Given the description of an element on the screen output the (x, y) to click on. 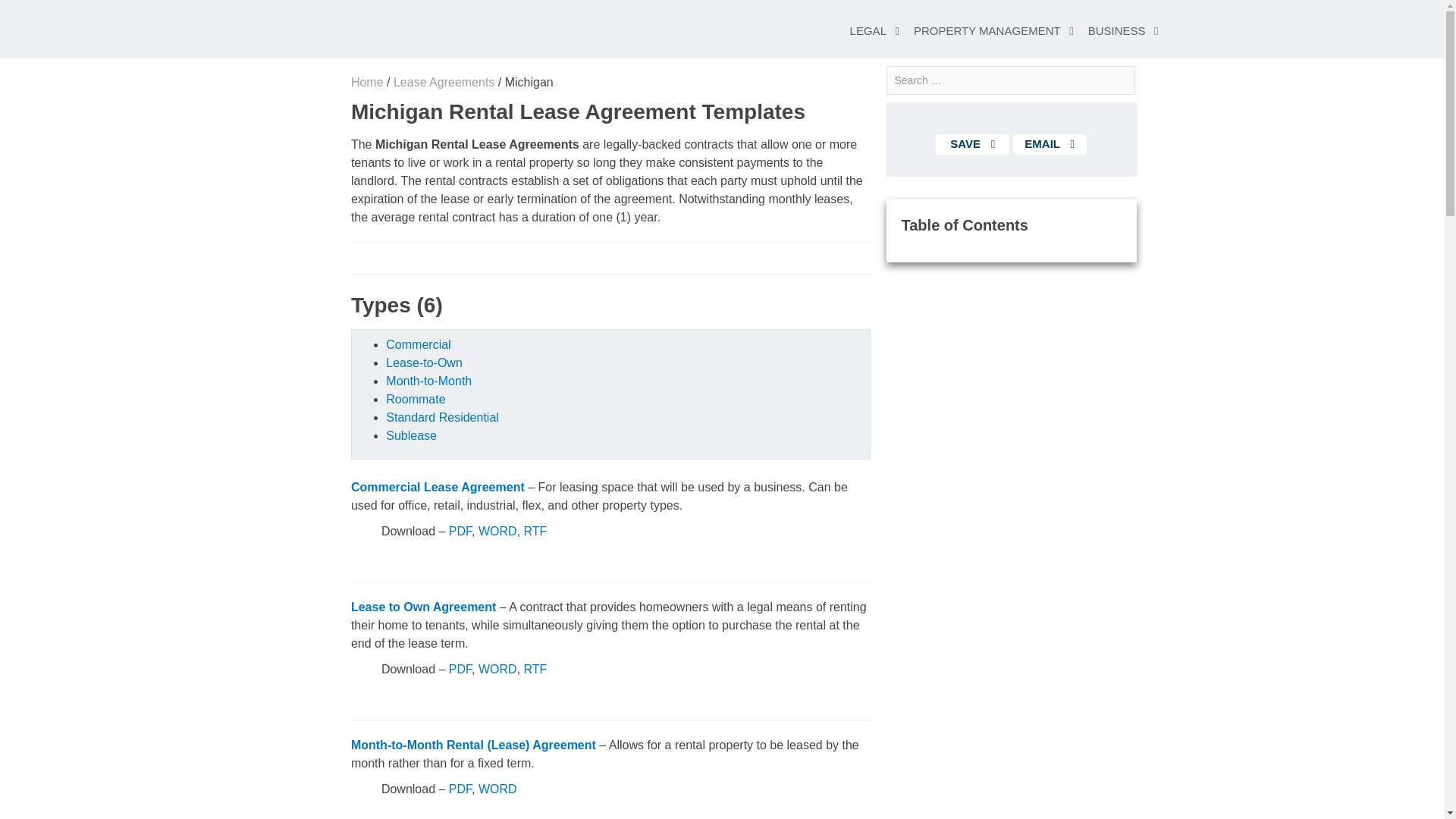
BUSINESS (1116, 31)
PROPERTY MANAGEMENT (986, 31)
LEGAL (867, 31)
SAVE (972, 144)
